Given the description of an element on the screen output the (x, y) to click on. 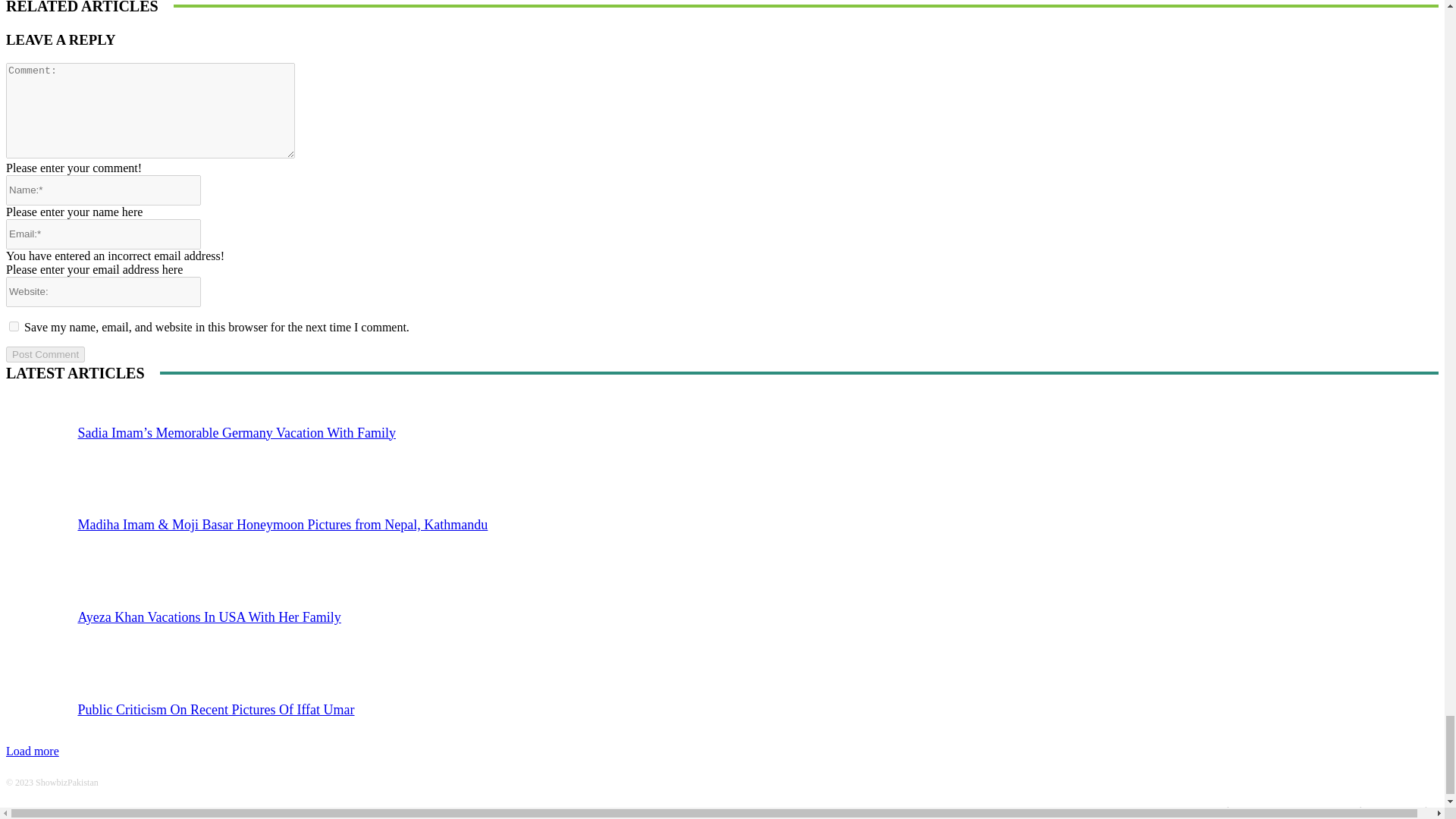
yes (13, 326)
Post Comment (44, 354)
